Given the description of an element on the screen output the (x, y) to click on. 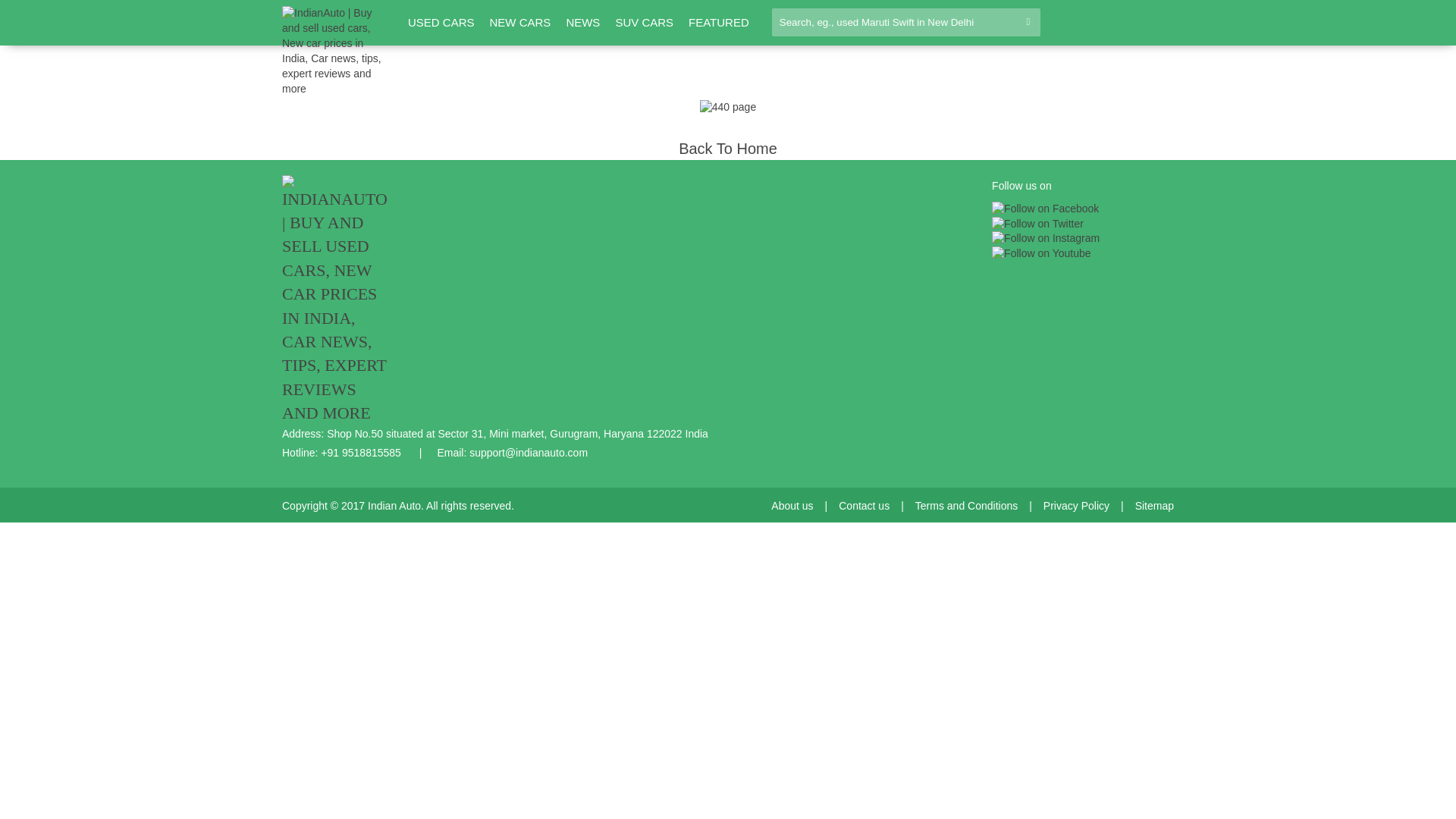
NEW CARS (520, 22)
FEATURED (718, 22)
Follow on Twitter (1037, 224)
Follow on Facebook (1045, 209)
SUV CARS (643, 22)
Follow on Instagram (1045, 238)
Follow on Youtube (1040, 253)
USED CARS (440, 22)
